Given the description of an element on the screen output the (x, y) to click on. 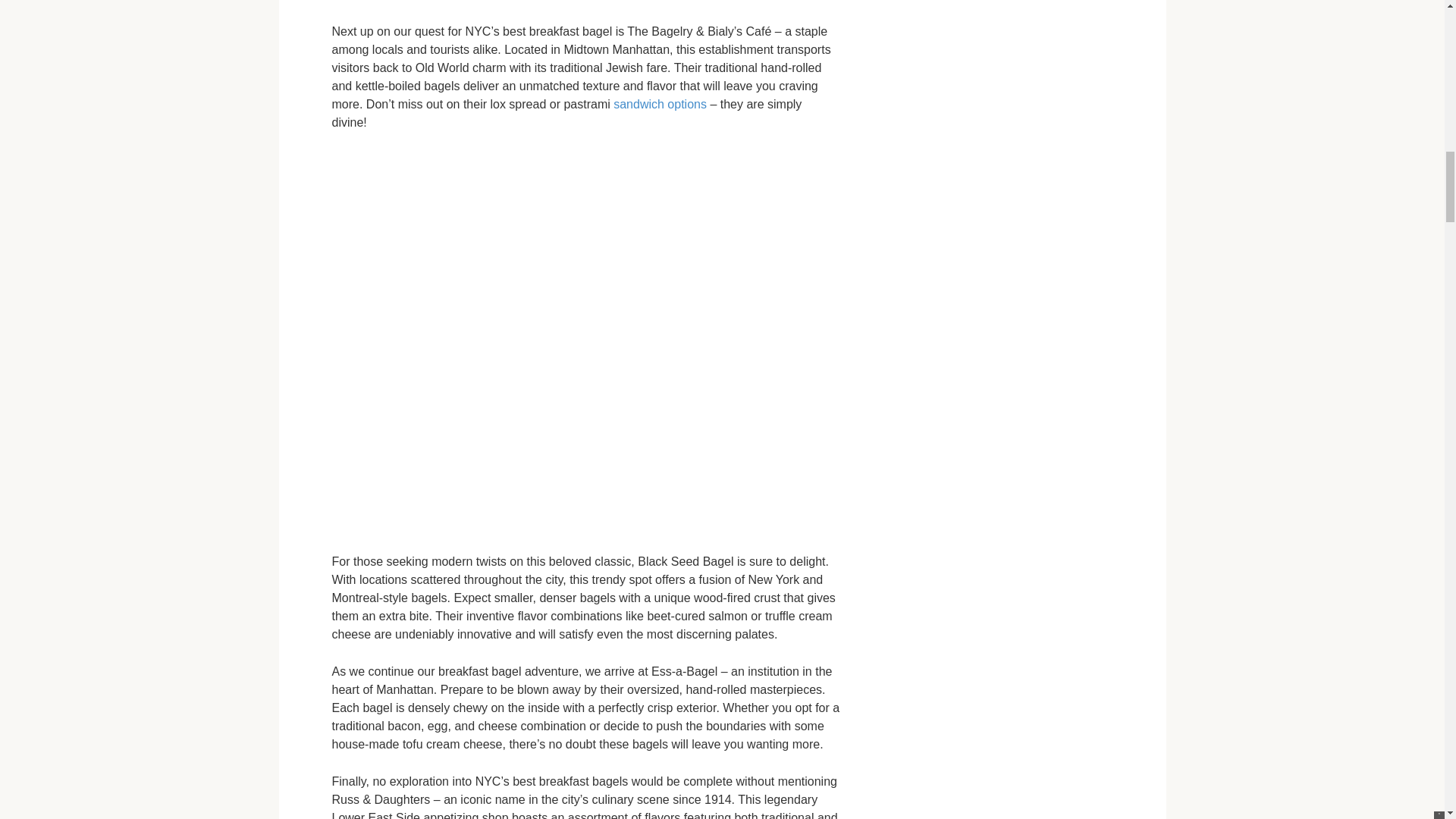
sandwich options (659, 103)
